Given the description of an element on the screen output the (x, y) to click on. 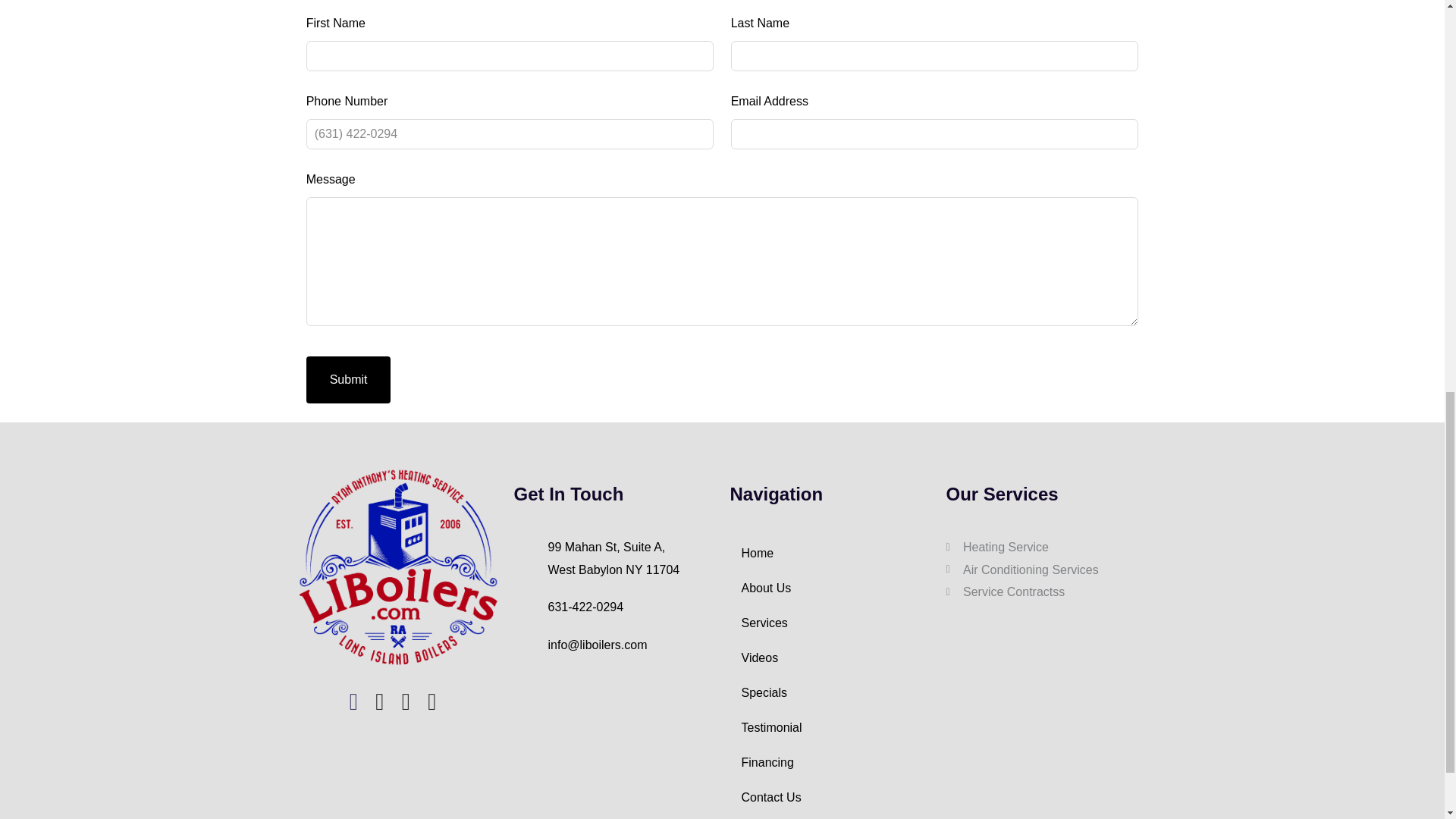
Videos (613, 558)
631-422-0294 (829, 657)
Submit (613, 607)
Services (348, 379)
Home (829, 623)
About Us (829, 553)
